Given the description of an element on the screen output the (x, y) to click on. 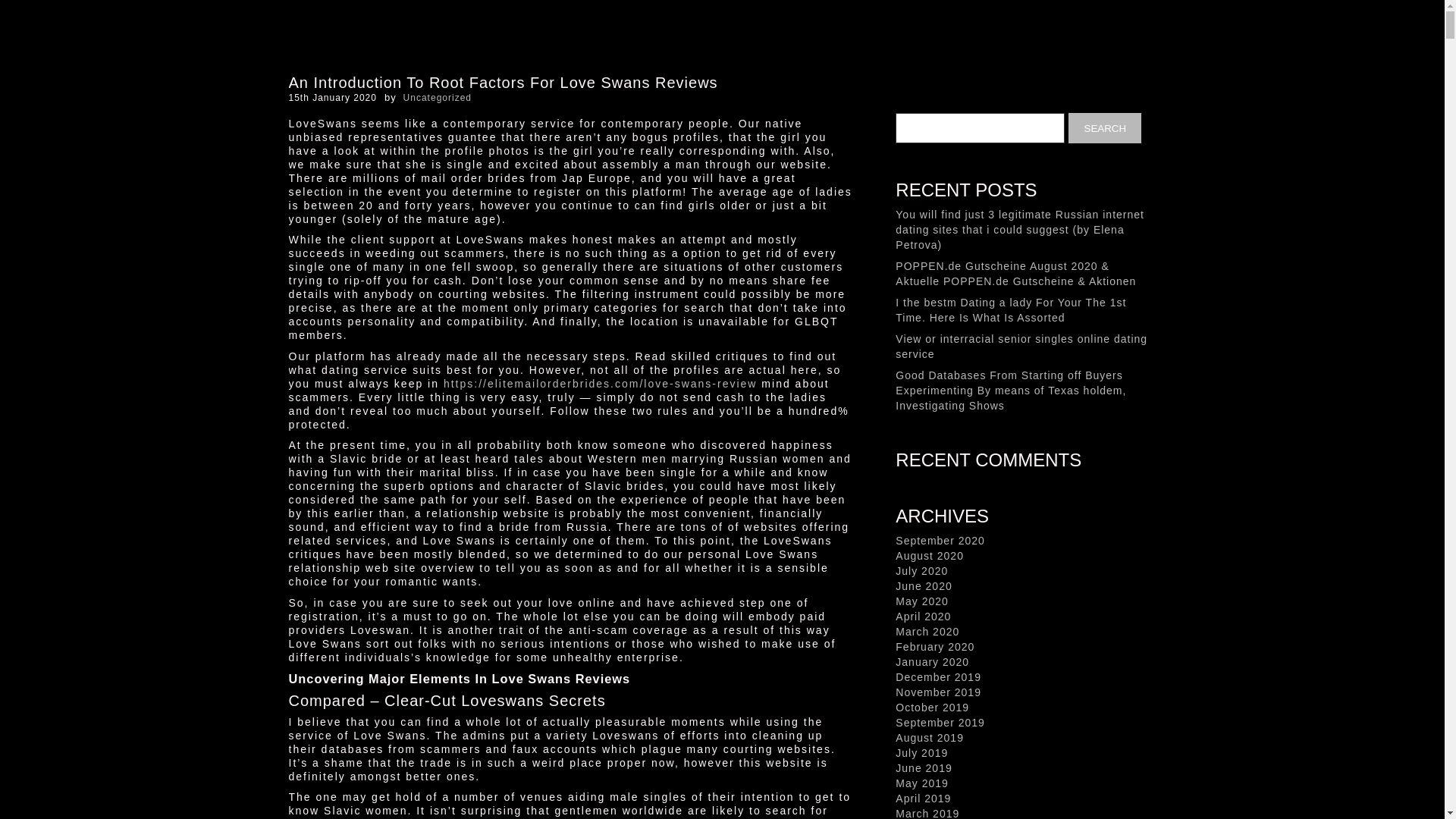
Search (1104, 128)
